Given the description of an element on the screen output the (x, y) to click on. 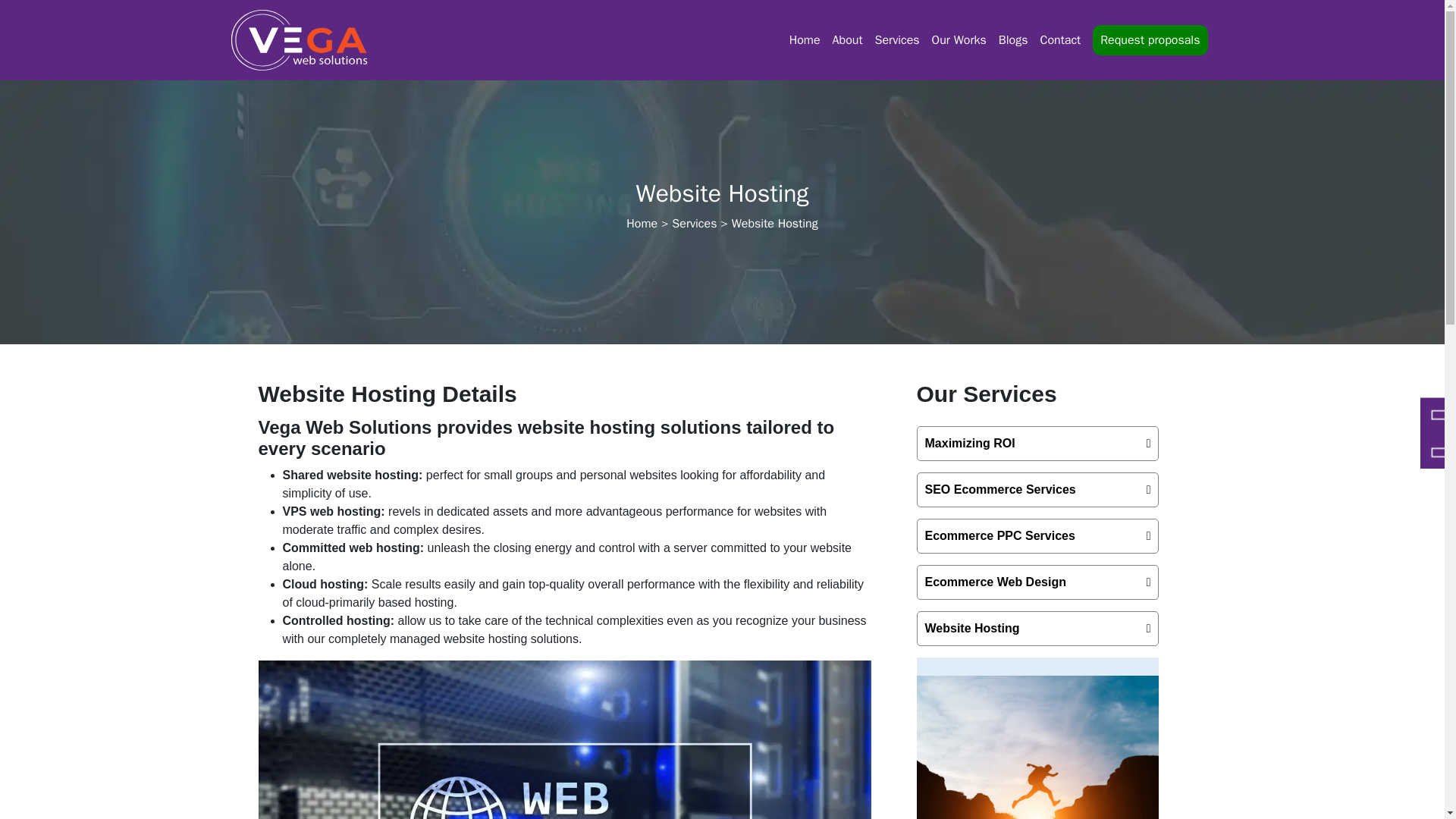
Contact (1060, 40)
Our Works (959, 40)
Maximizing ROI (1036, 443)
About (848, 40)
Website Hosting (1036, 628)
Ecommerce PPC Services (1036, 535)
SEO Ecommerce Services (1036, 489)
Home (642, 223)
Home (805, 40)
Blogs (1012, 40)
Services (693, 223)
Ecommerce Web Design (1036, 582)
Services (897, 40)
Request proposals (1149, 40)
